Given the description of an element on the screen output the (x, y) to click on. 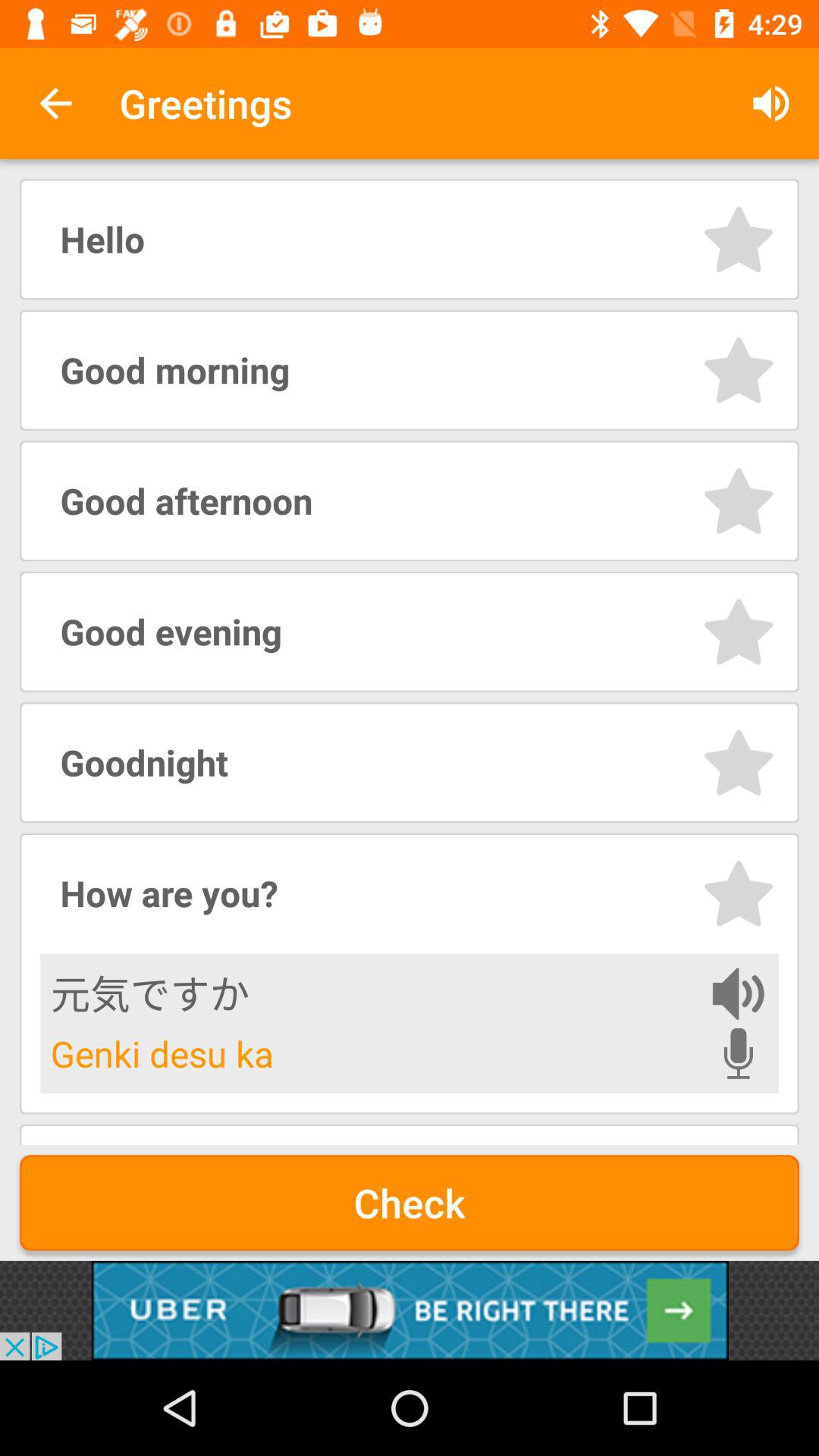
open advertisement (409, 1310)
